Given the description of an element on the screen output the (x, y) to click on. 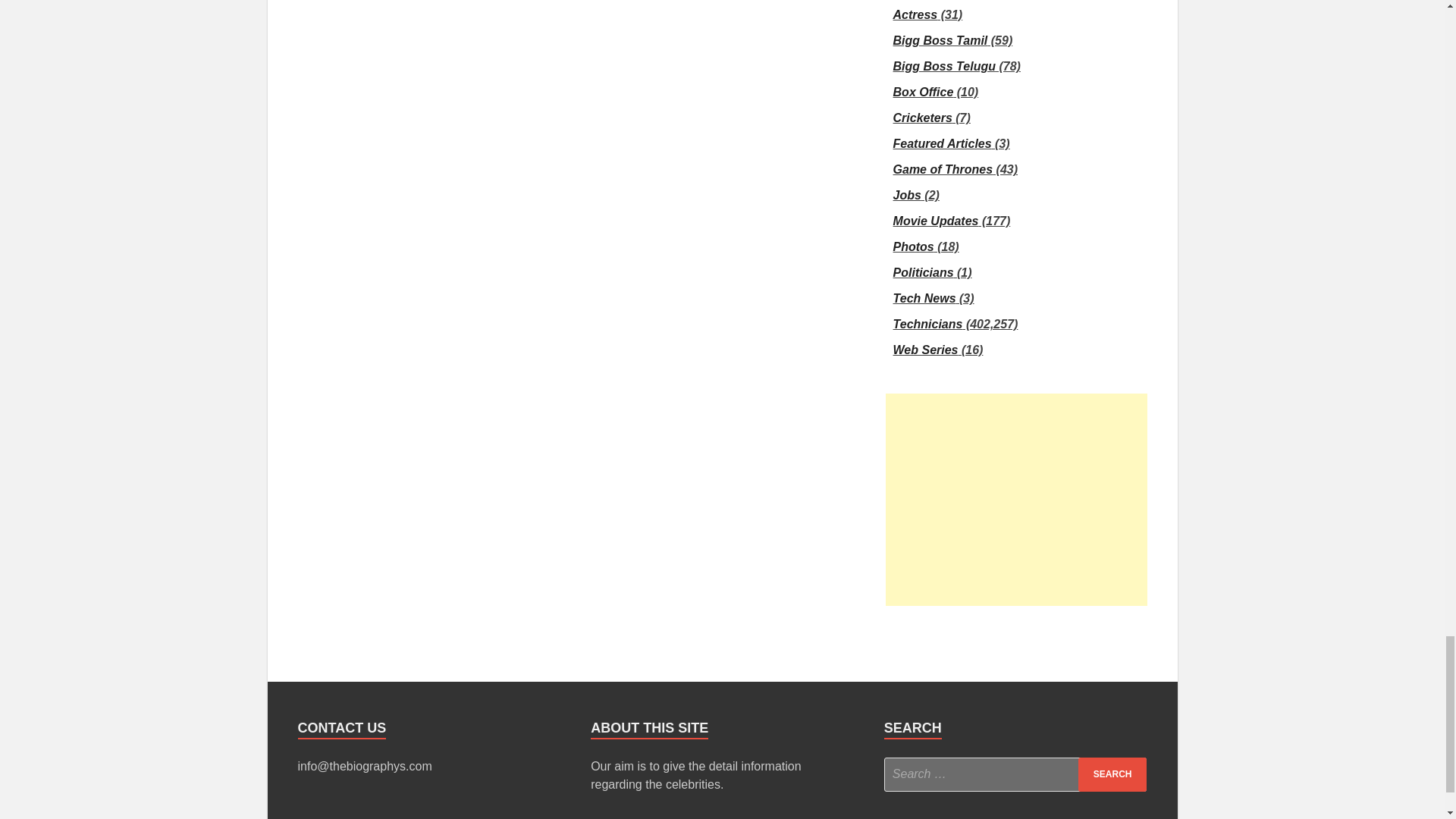
Search (1112, 774)
Search (1112, 774)
